Given the description of an element on the screen output the (x, y) to click on. 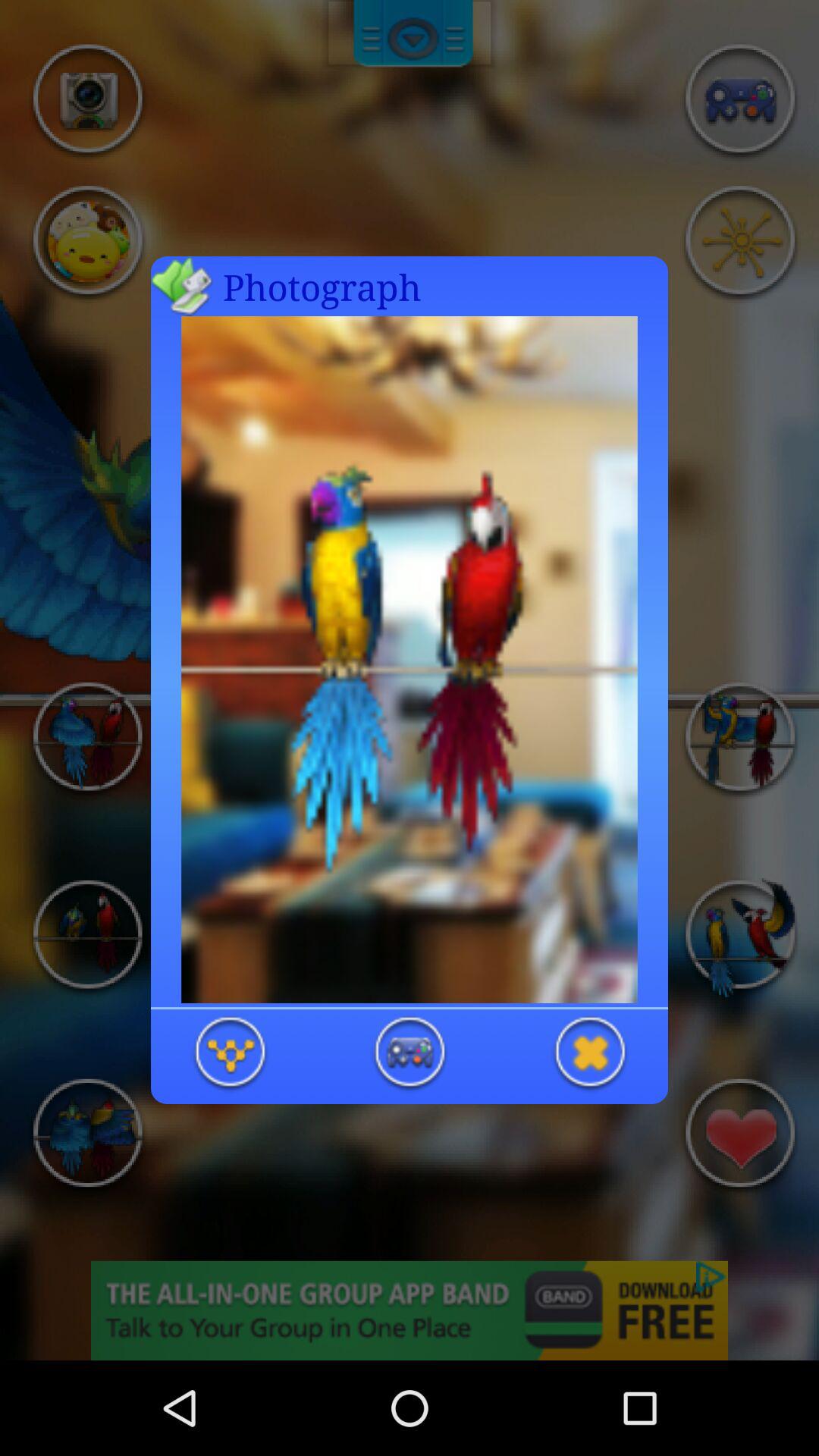
exit (589, 1054)
